Given the description of an element on the screen output the (x, y) to click on. 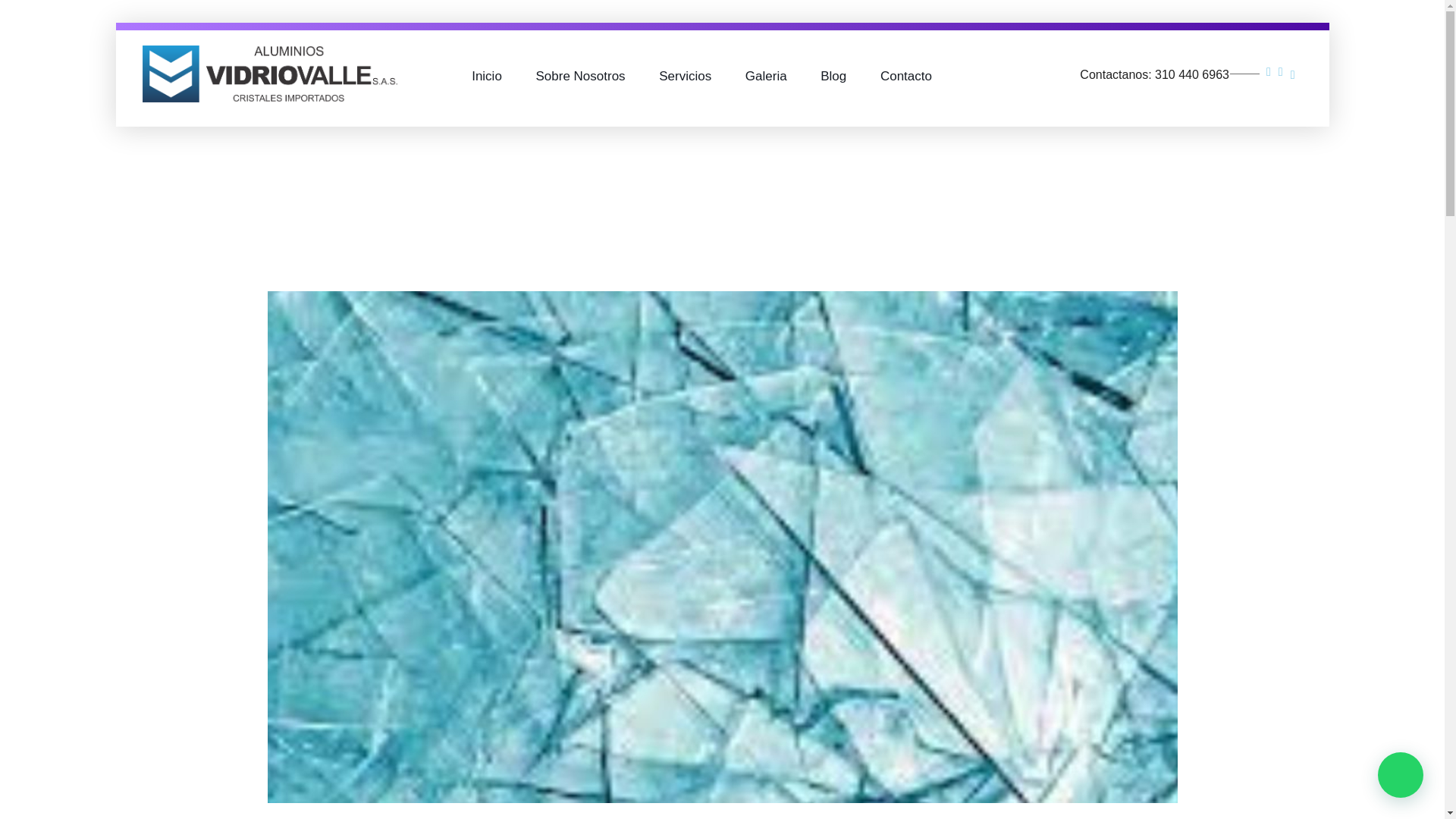
Aluminios Vidriovalle (269, 73)
Contacto (897, 59)
Aluminios Vidriovalle (233, 110)
Aluminios Vidriovalle (233, 73)
Inicio (494, 41)
Sobre Nosotros (580, 46)
Servicios (685, 51)
Contactanos: 310 440 6963 (1171, 60)
Galeria (765, 54)
Blog (833, 56)
